Given the description of an element on the screen output the (x, y) to click on. 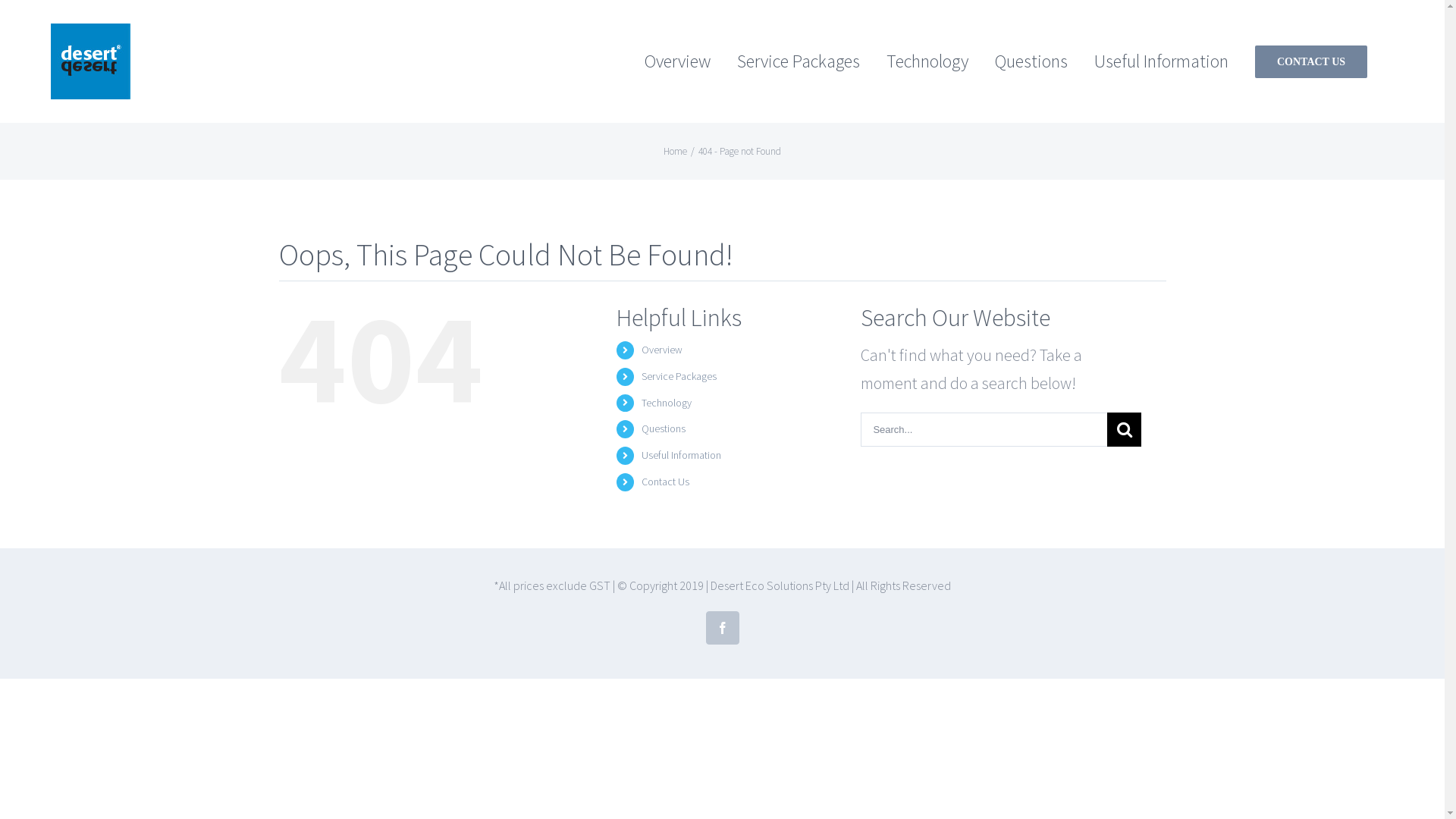
Questions Element type: text (663, 428)
Home Element type: text (675, 150)
Useful Information Element type: text (1161, 61)
CONTACT US Element type: text (1311, 61)
Overview Element type: text (677, 61)
Overview Element type: text (661, 349)
Technology Element type: text (666, 402)
Questions Element type: text (1030, 61)
Contact Us Element type: text (665, 481)
Technology Element type: text (927, 61)
Service Packages Element type: text (798, 61)
Facebook Element type: text (721, 627)
Useful Information Element type: text (681, 454)
Service Packages Element type: text (678, 375)
